Given the description of an element on the screen output the (x, y) to click on. 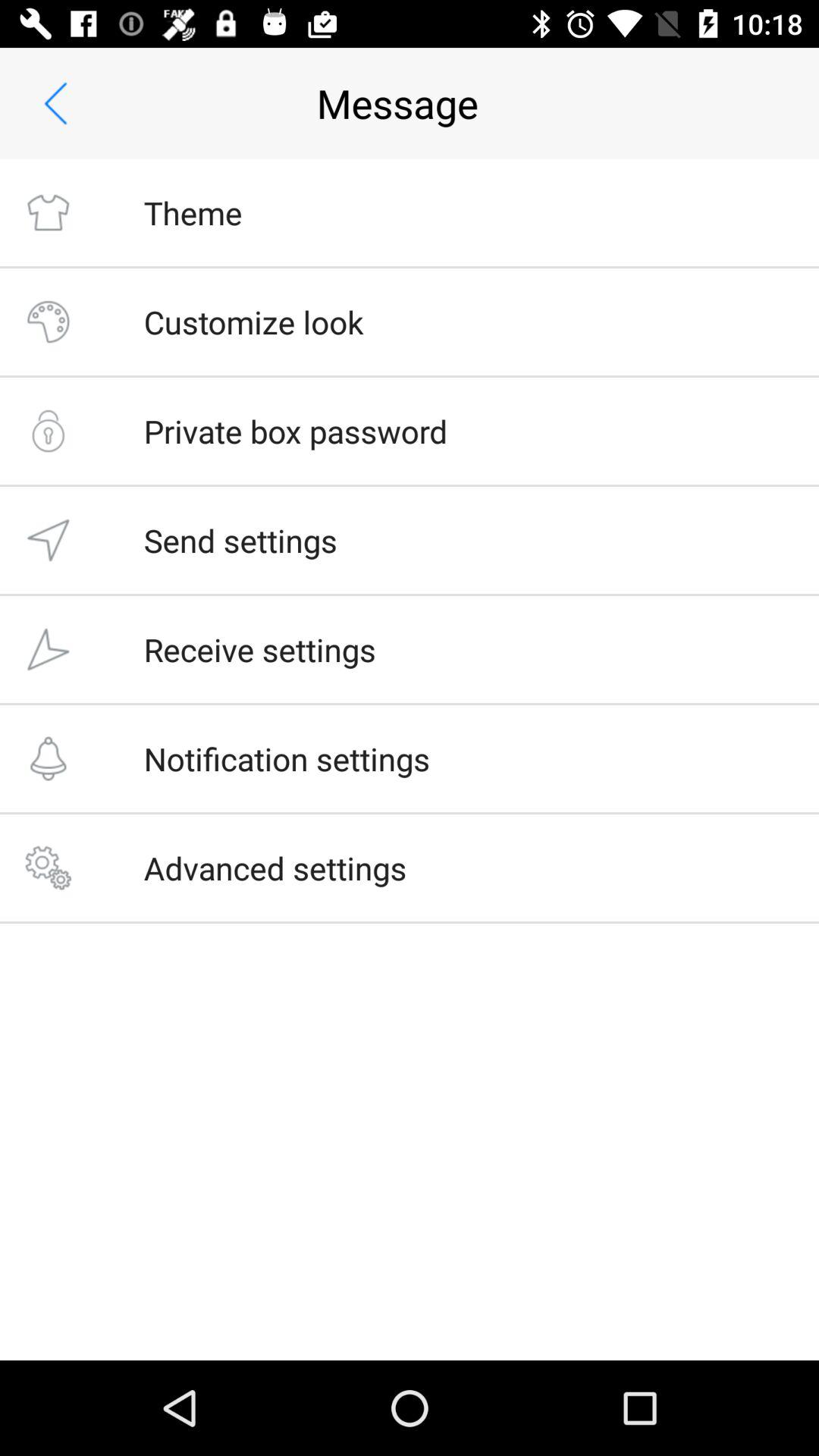
press the icon above customize look item (192, 212)
